Given the description of an element on the screen output the (x, y) to click on. 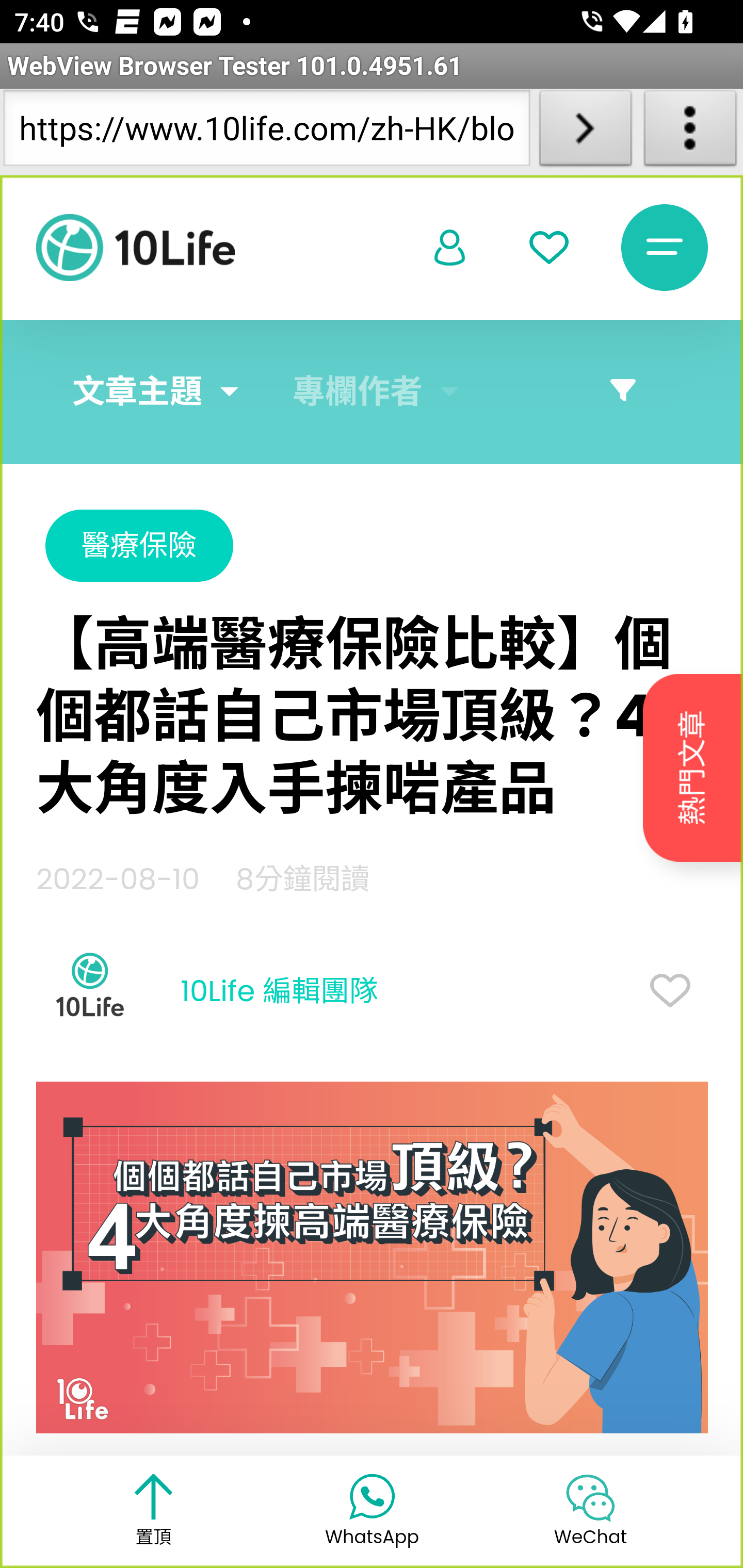
Load URL (585, 132)
About WebView (690, 132)
tenlife-normal-logo.43ea159 (135, 247)
javascript:void(0); profile_default.520744e (449, 248)
javascript:void(0); favourite_default.17e2042 (549, 247)
文章主題 (137, 391)
專欄作者 (358, 391)
10Life Logo 10Life 編輯團隊 10Life Logo 10Life 編輯團隊 (207, 992)
Whatsapp icon (371, 1494)
WeChat icon (589, 1497)
